Given the description of an element on the screen output the (x, y) to click on. 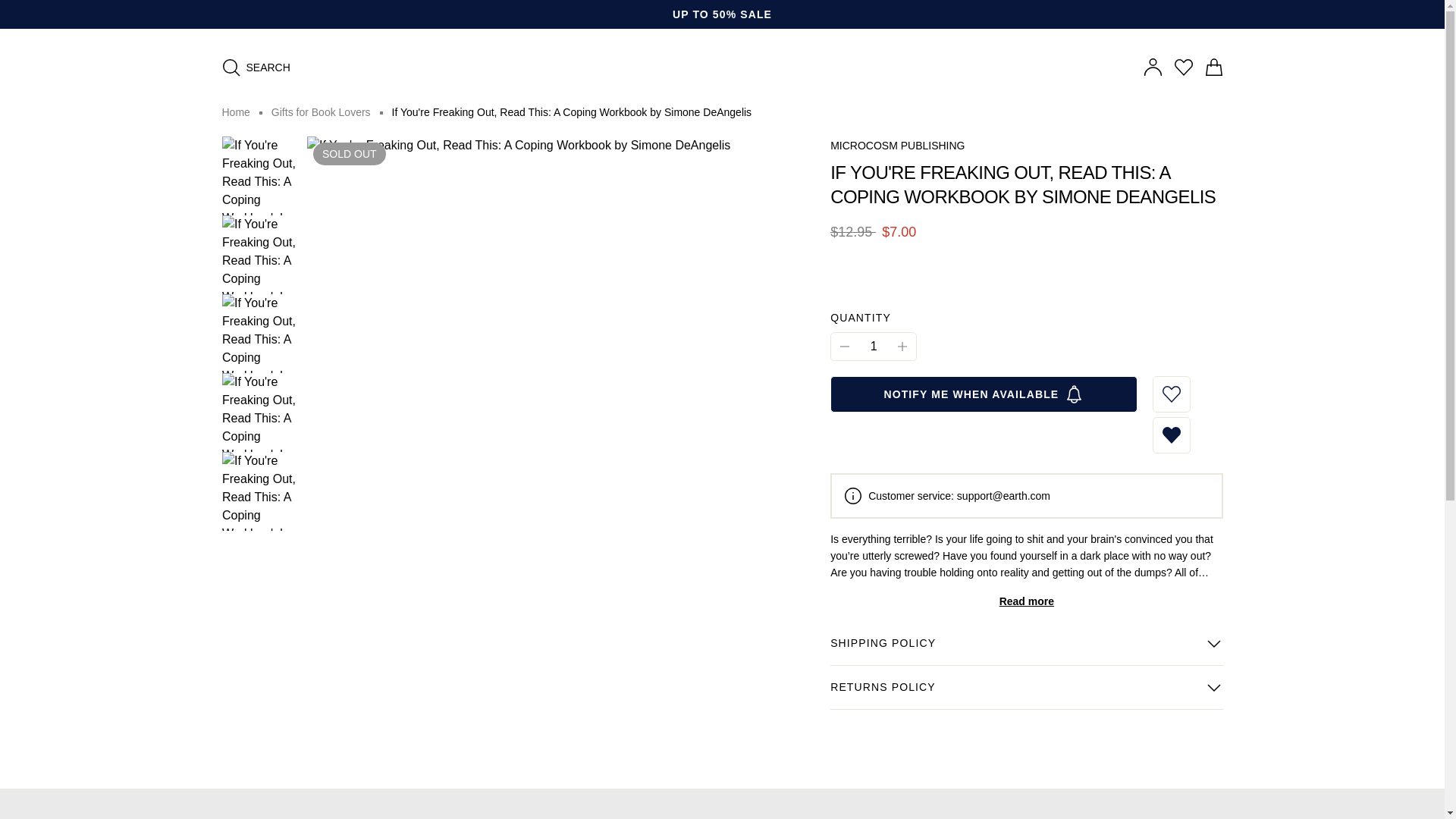
NOTIFY ME WHEN AVAILABLE (983, 393)
Microcosm Publishing (896, 144)
Gifts for Book Lovers (320, 111)
SEARCH (255, 67)
Read more (1026, 600)
MICROCOSM PUBLISHING (896, 144)
items in cart, view bag (1213, 67)
ADD TO WISHLIST (1172, 393)
RETURNS POLICY (1026, 687)
1 (873, 345)
Gifts for Book Lovers (320, 111)
REMOVE FROM WISHLIST (1172, 434)
Home (234, 111)
Earth Shop (722, 52)
SHIPPING POLICY (1026, 643)
